Given the description of an element on the screen output the (x, y) to click on. 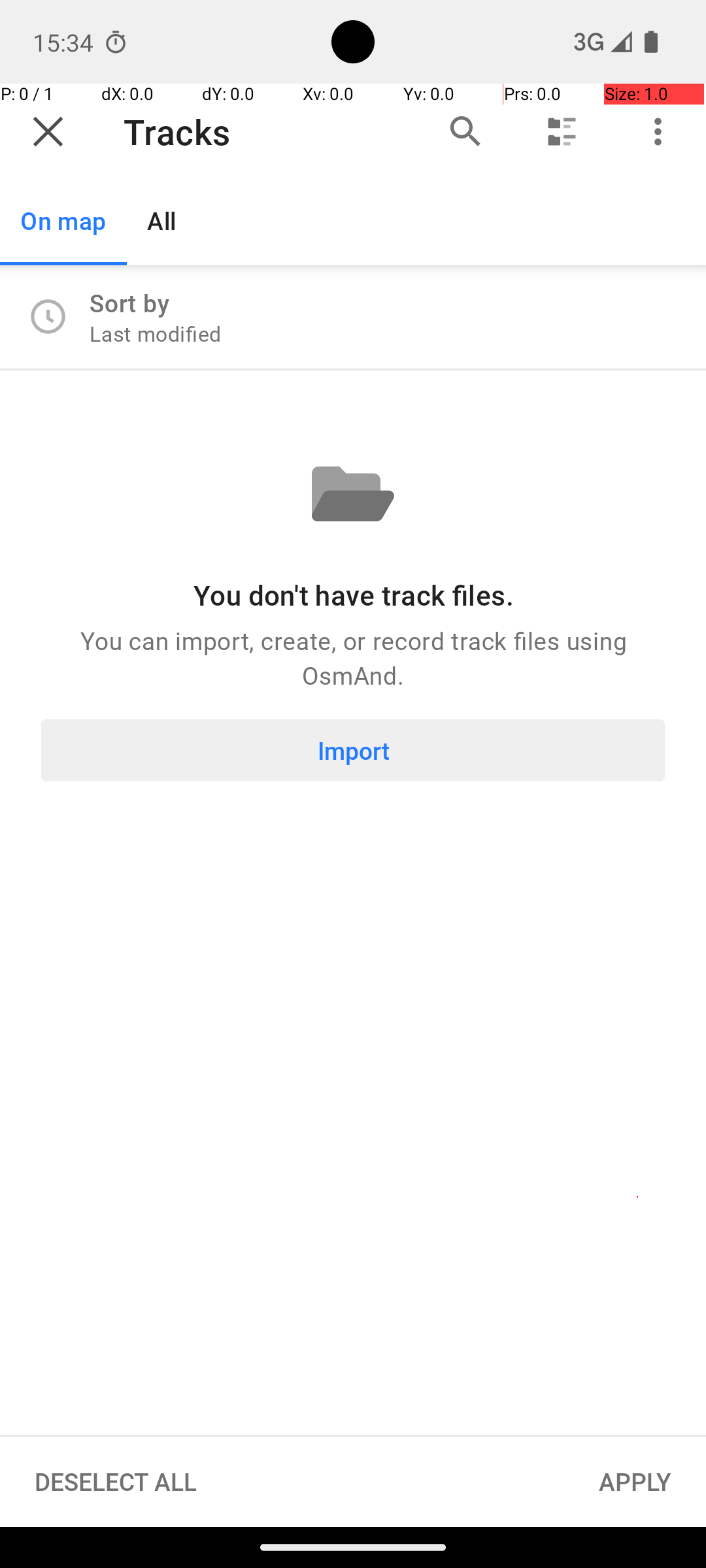
Switch folder Element type: android.widget.ImageButton (561, 131)
More actions Element type: android.widget.ImageButton (657, 131)
DESELECT ALL Element type: android.widget.TextView (115, 1481)
APPLY Element type: android.widget.TextView (634, 1481)
On map Element type: android.widget.TextView (63, 220)
All Element type: android.widget.TextView (161, 220)
Last modified Element type: android.widget.TextView (155, 333)
You don't have track files. Element type: android.widget.TextView (352, 594)
You can import, create, or record track files using OsmAnd. Element type: android.widget.TextView (352, 657)
Import Element type: android.widget.TextView (352, 750)
